Given the description of an element on the screen output the (x, y) to click on. 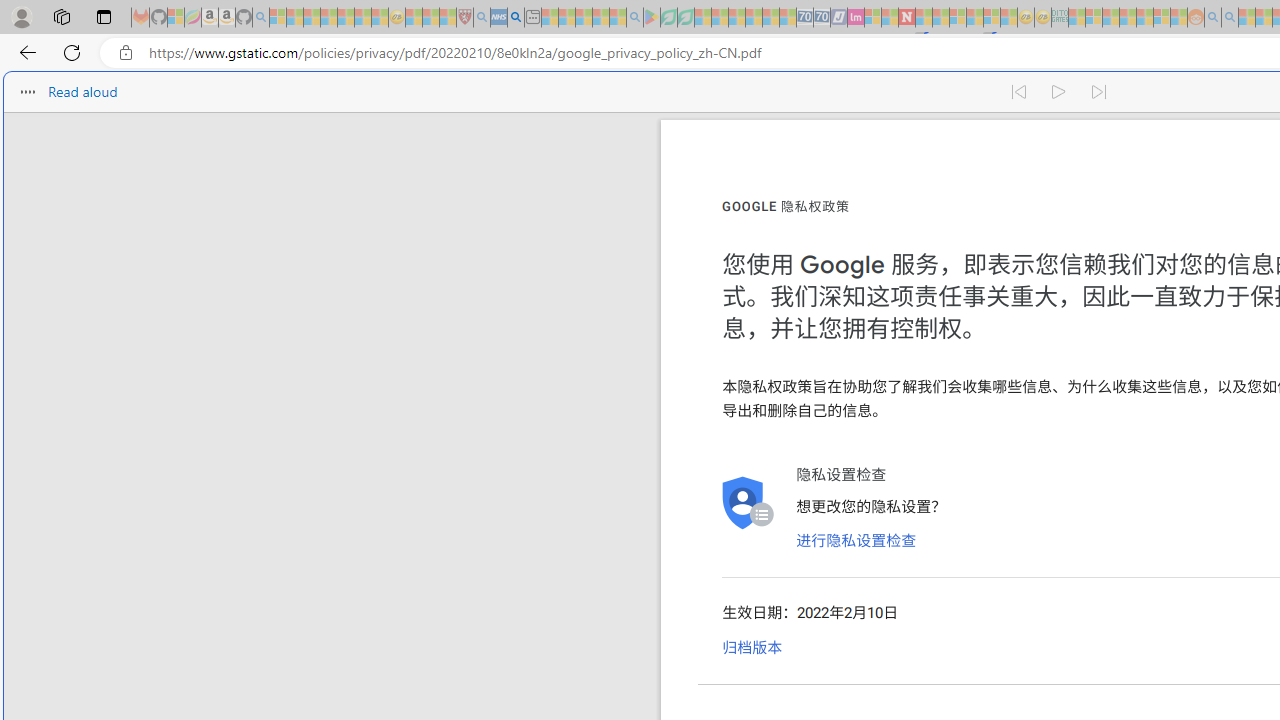
14 Common Myths Debunked By Scientific Facts - Sleeping (940, 17)
Trusted Community Engagement and Contributions | Guidelines (923, 17)
Pets - MSN - Sleeping (600, 17)
